Given the description of an element on the screen output the (x, y) to click on. 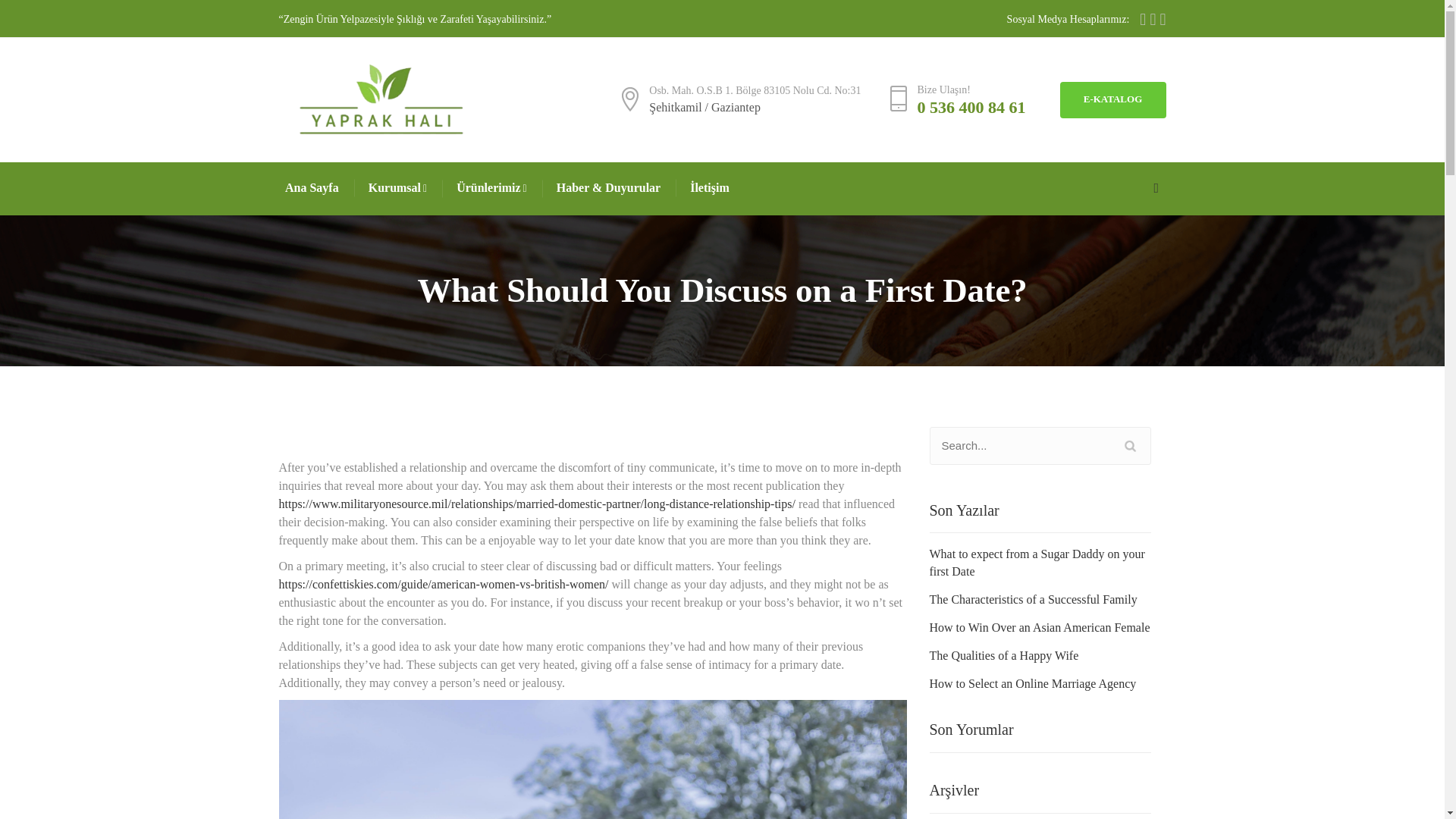
How to Win Over an Asian American Female (1040, 628)
0 536 400 84 61 (971, 107)
How to Select an Online Marriage Agency (1033, 683)
Ana Sayfa (312, 188)
The Qualities of a Happy Wife (1004, 656)
What to expect from a Sugar Daddy on your first Date (1040, 563)
The Characteristics of a Successful Family (1033, 600)
E-KATALOG (1112, 99)
Kurumsal (398, 188)
